Given the description of an element on the screen output the (x, y) to click on. 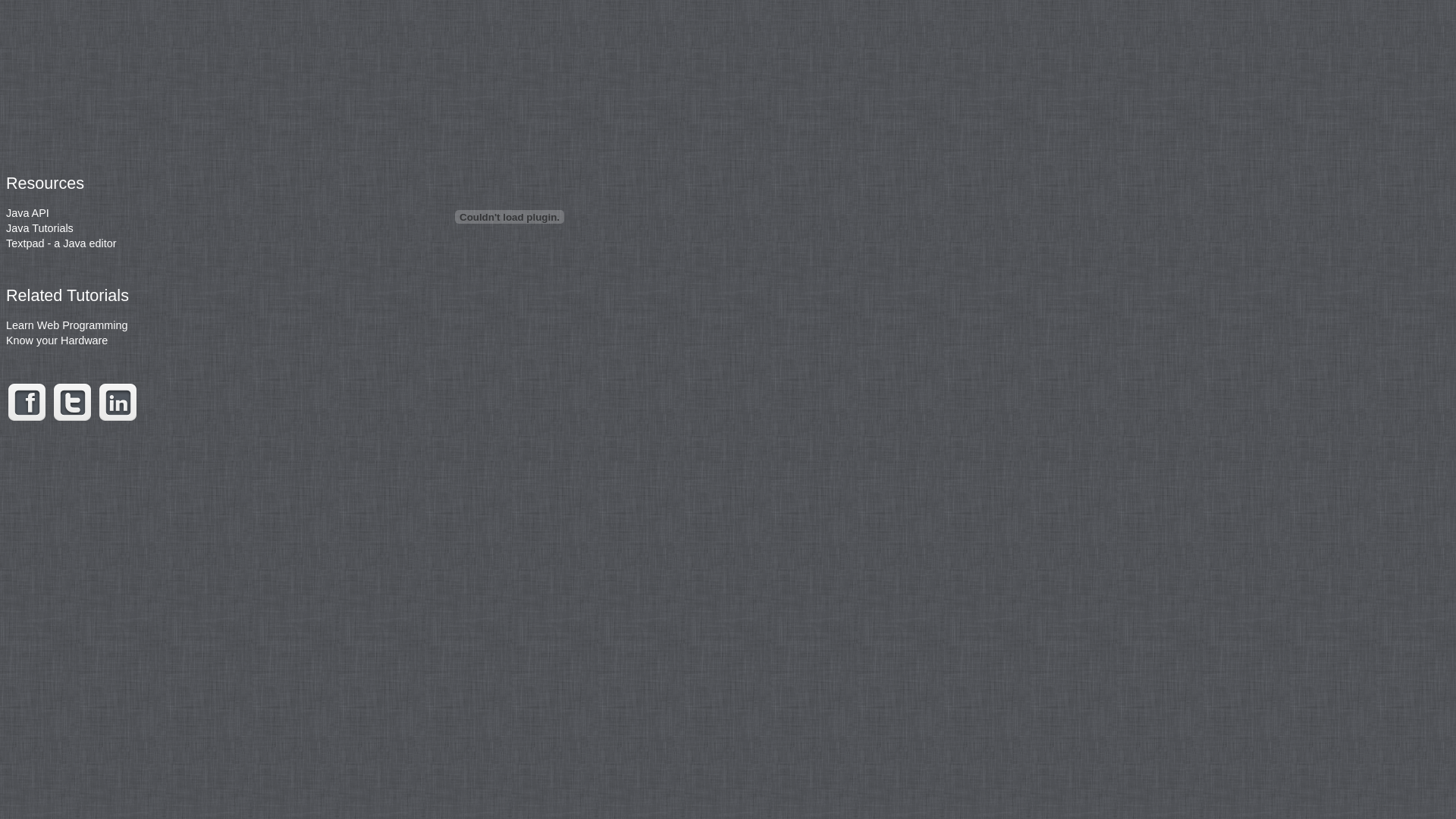
Know your Hardware Element type: text (56, 340)
Java API Element type: text (27, 213)
Textpad - a Java editor Element type: text (61, 243)
Java Tutorials Element type: text (39, 228)
Learn Web Programming Element type: text (67, 325)
